Given the description of an element on the screen output the (x, y) to click on. 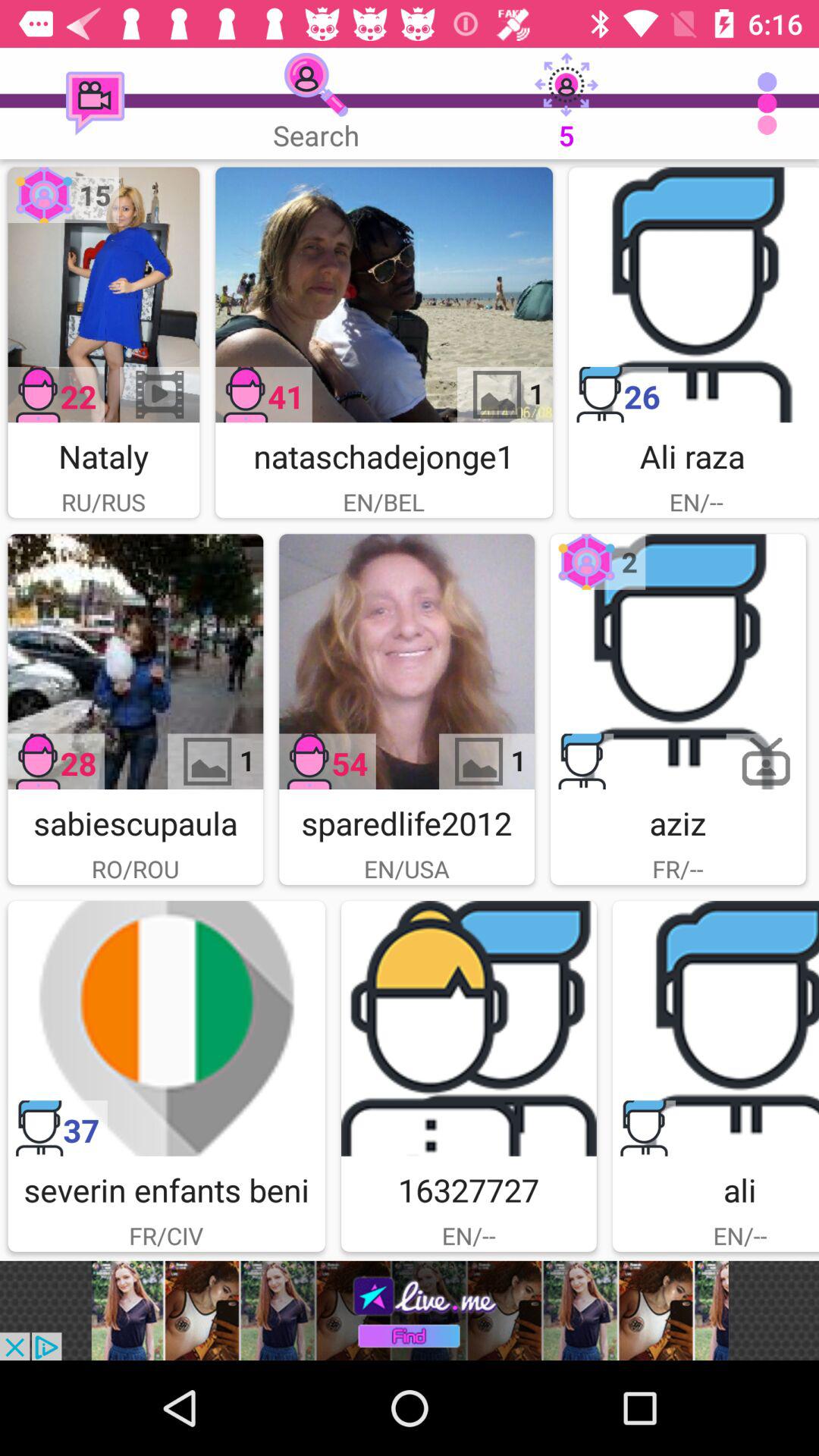
image open option (135, 661)
